Given the description of an element on the screen output the (x, y) to click on. 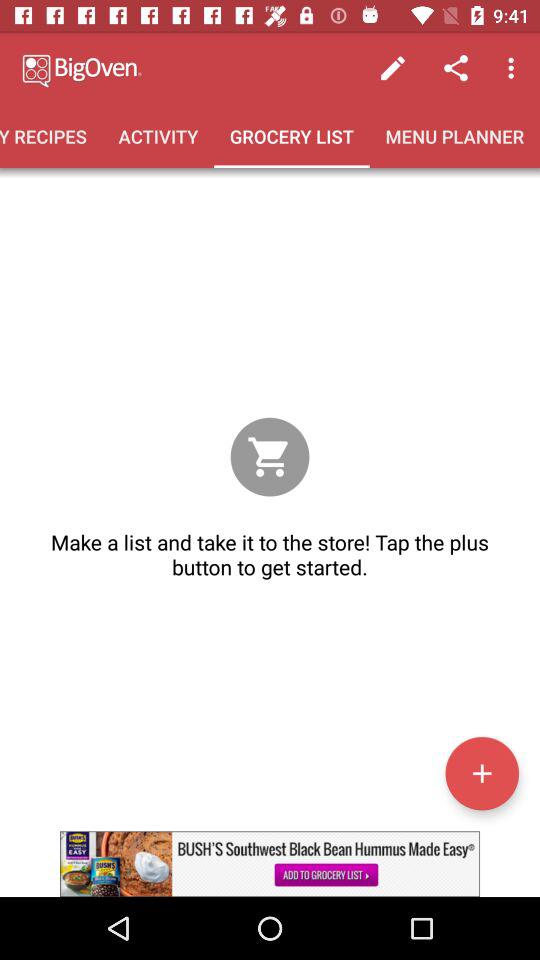
create a list (482, 773)
